Given the description of an element on the screen output the (x, y) to click on. 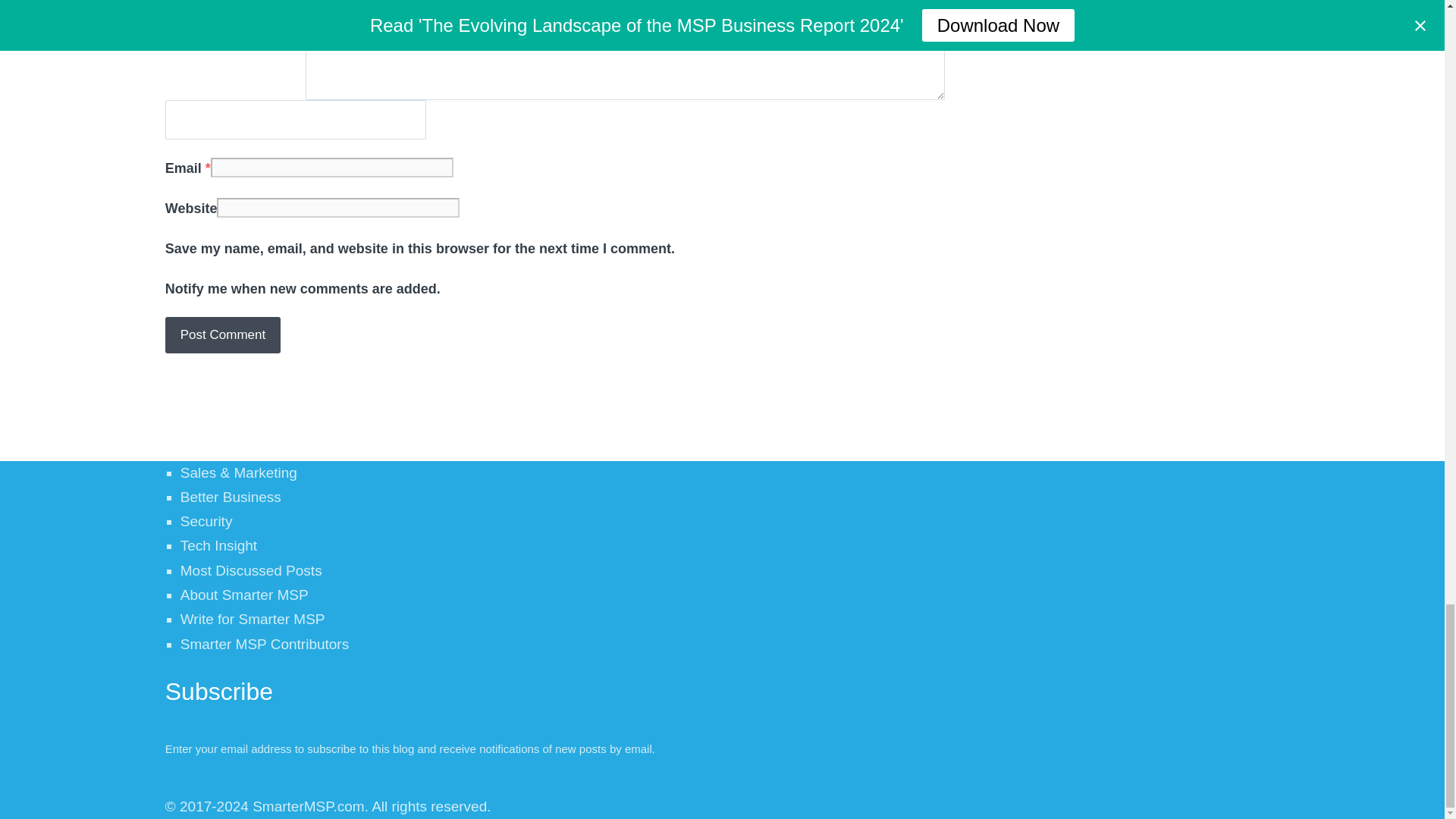
Post Comment (223, 334)
